Given the description of an element on the screen output the (x, y) to click on. 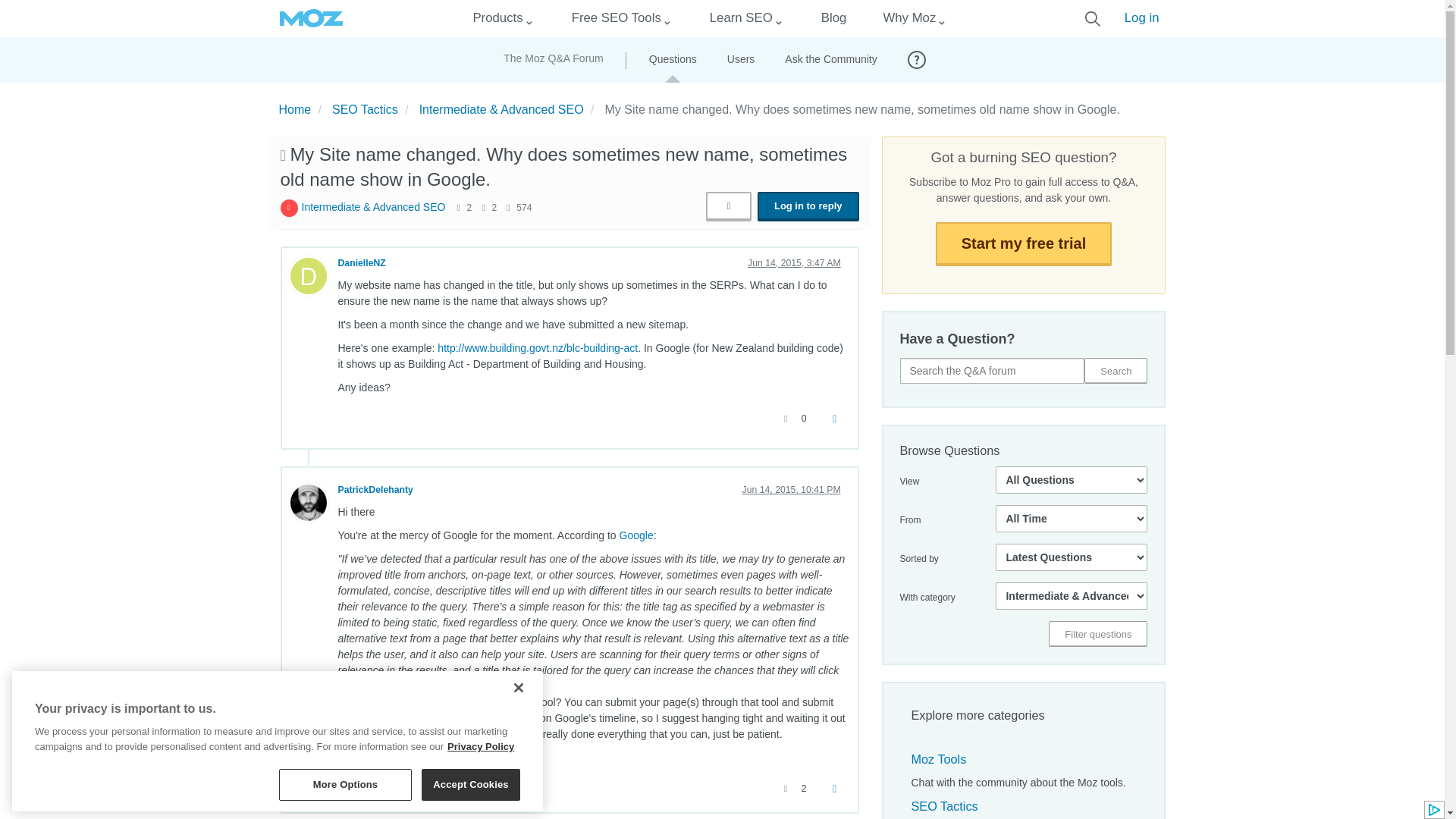
Filter questions (1097, 633)
Products (496, 18)
Moz logo (311, 18)
Search (1115, 370)
Moz Home (311, 18)
Moz logo (311, 18)
